Given the description of an element on the screen output the (x, y) to click on. 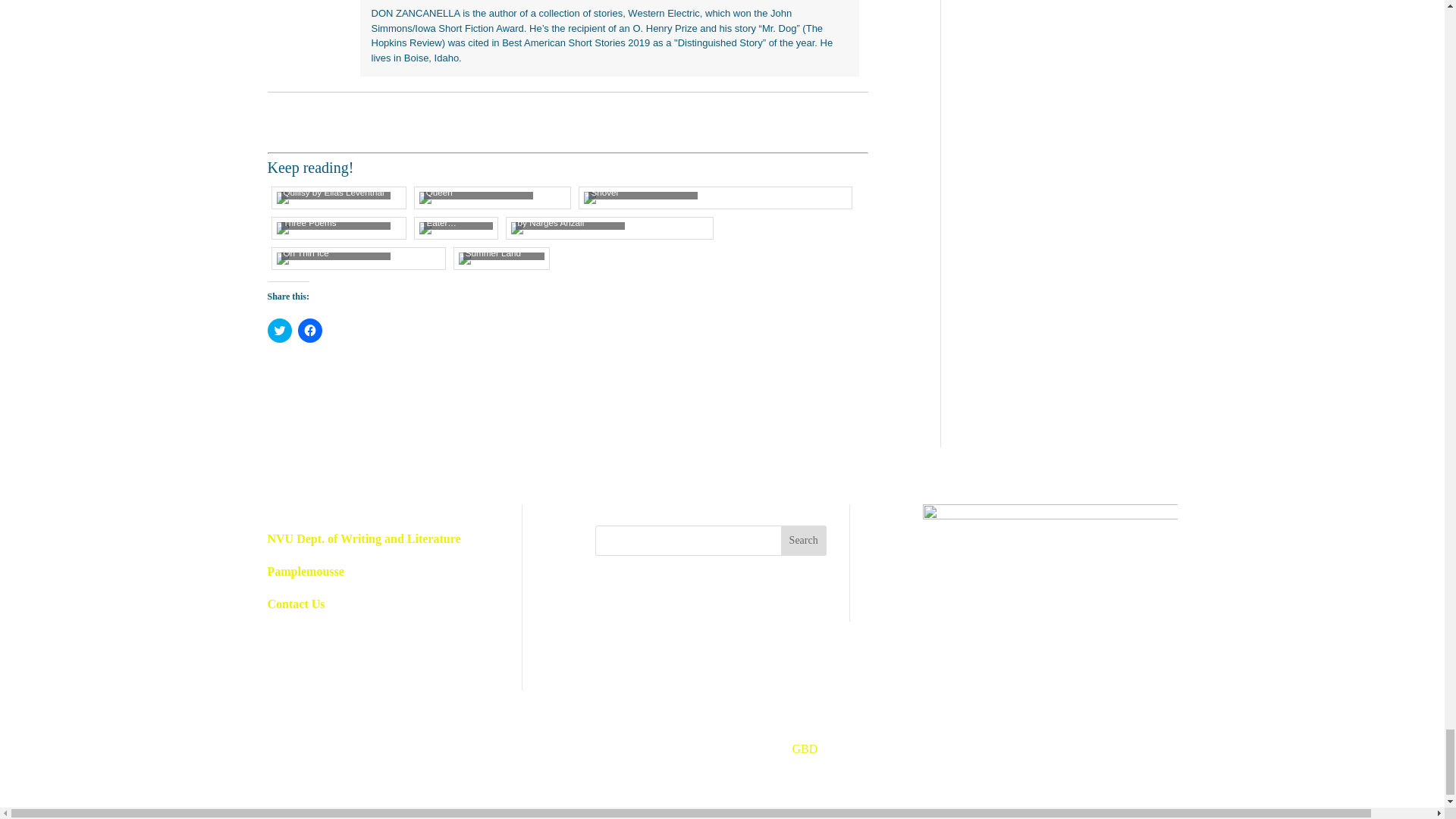
Click to share on Twitter (278, 330)
NVU Logo - White (1048, 528)
Click to share on Facebook (309, 330)
On Thin Ice (357, 258)
Search (803, 540)
Quillsy by Elias Leventhal (338, 197)
When Tulsa Nearly Killed Queen (492, 197)
On Cooking: A Golden Shovel (715, 197)
Summer Land (501, 258)
Three Poems (338, 227)
